Given the description of an element on the screen output the (x, y) to click on. 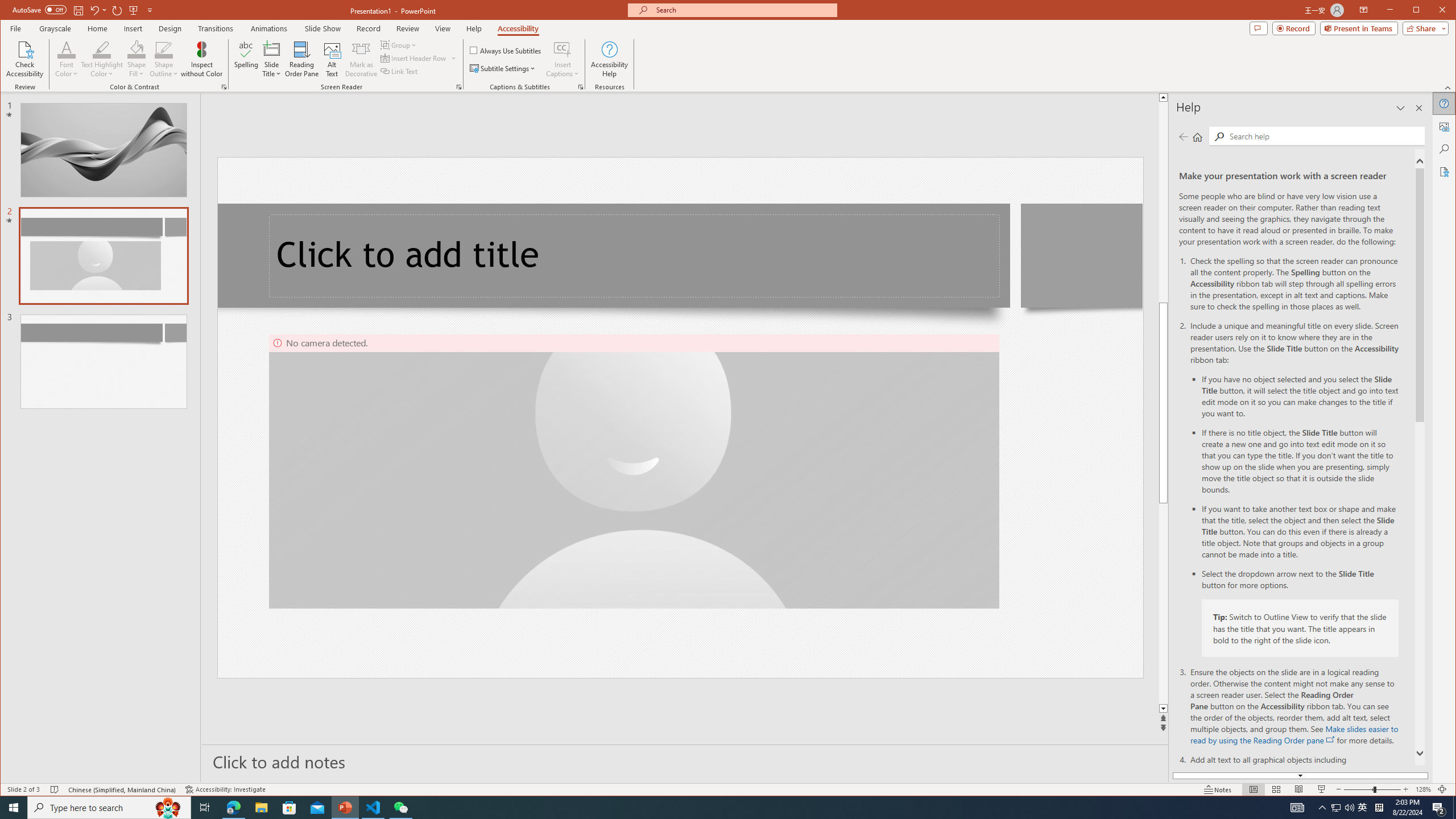
Slide Title (271, 59)
Camera 4, No camera detected. (633, 471)
Shape Outline Blue, Accent 1 (163, 48)
Maximize (1432, 11)
Inspect without Color (201, 59)
